Given the description of an element on the screen output the (x, y) to click on. 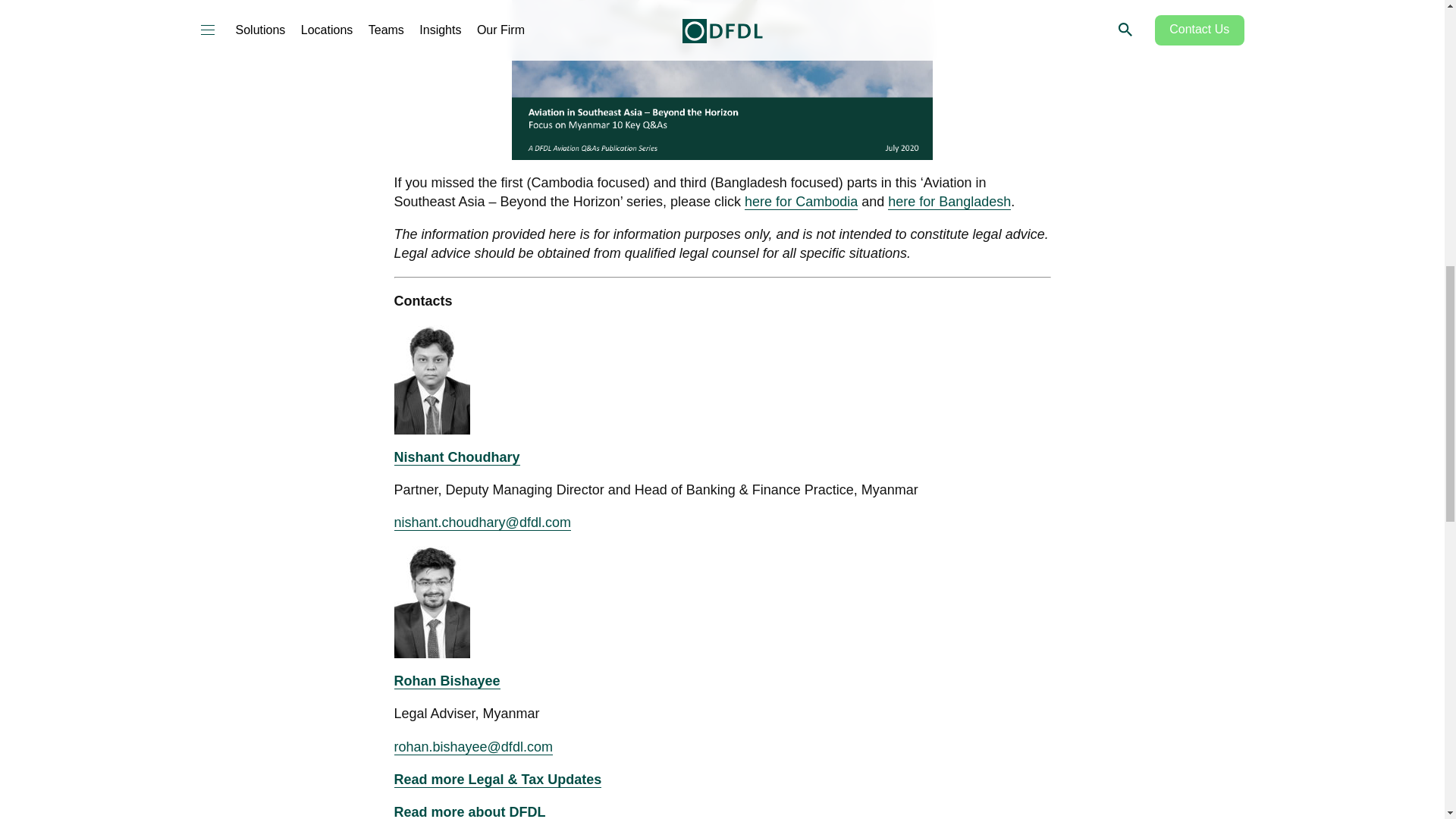
here for Bangladesh (949, 201)
Nishant Choudhary (456, 457)
Rohan Bishayee (447, 681)
here for Cambodia (800, 201)
